Given the description of an element on the screen output the (x, y) to click on. 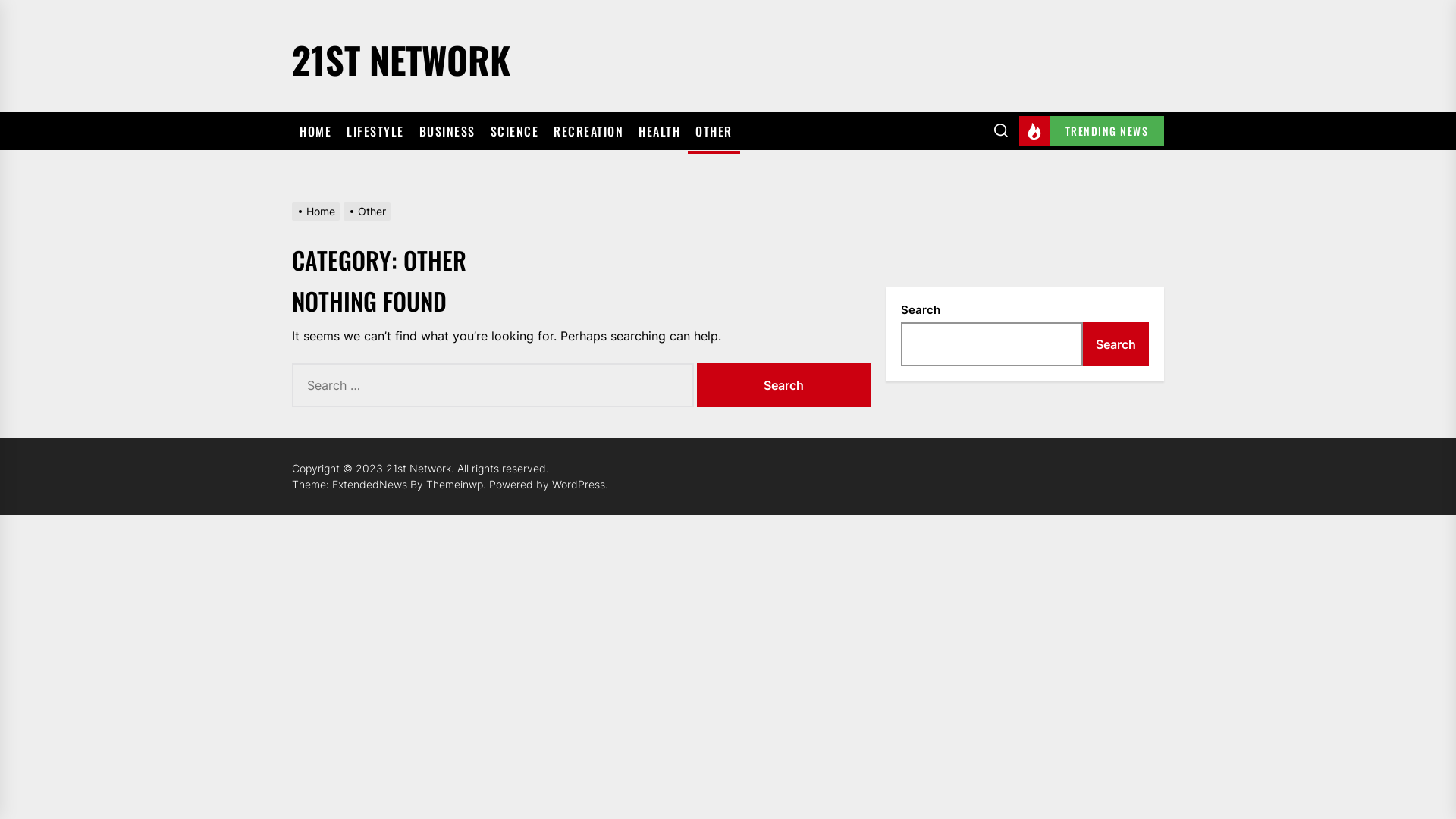
Themeinwp. Element type: text (457, 483)
SCIENCE Element type: text (513, 130)
BUSINESS Element type: text (446, 130)
LIFESTYLE Element type: text (375, 130)
HOME Element type: text (315, 130)
OTHER Element type: text (713, 130)
21ST NETWORK Element type: text (400, 55)
HEALTH Element type: text (659, 130)
Other Element type: text (368, 210)
WordPress. Element type: text (580, 483)
RECREATION Element type: text (588, 130)
TRENDING NEWS Element type: text (1091, 131)
21st Network. Element type: text (421, 467)
Search Element type: text (1115, 344)
Search Element type: text (783, 385)
Home Element type: text (317, 210)
